Given the description of an element on the screen output the (x, y) to click on. 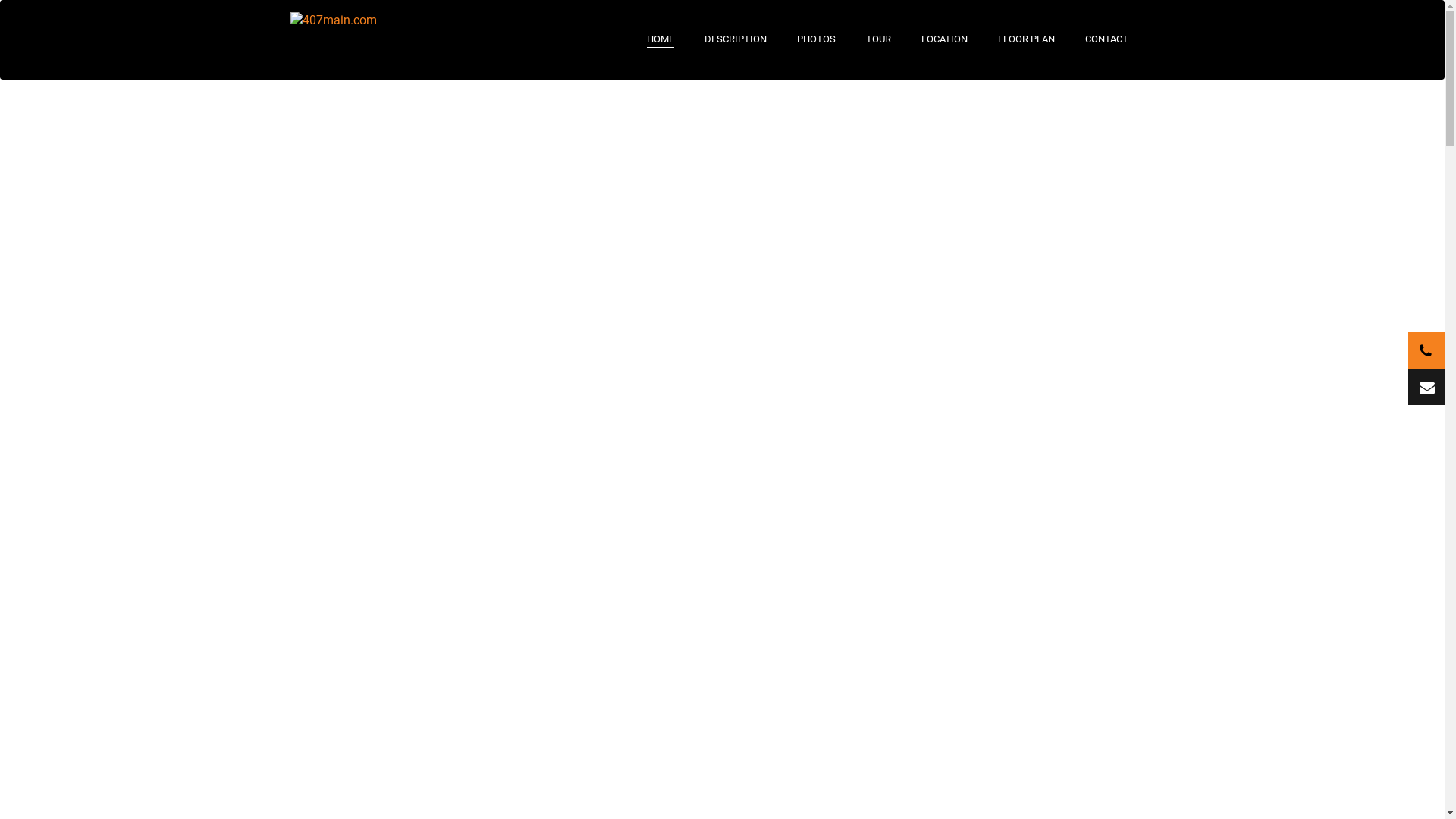
FLOOR PLAN Element type: text (1025, 39)
Have a Question? Element type: text (1426, 386)
PHOTOS Element type: text (815, 39)
TOUR Element type: text (878, 39)
HOME Element type: text (659, 39)
LOCATION Element type: text (943, 39)
CONTACT Element type: text (1105, 39)
DESCRIPTION Element type: text (734, 39)
(617) 803-7650 Element type: text (1426, 350)
